Given the description of an element on the screen output the (x, y) to click on. 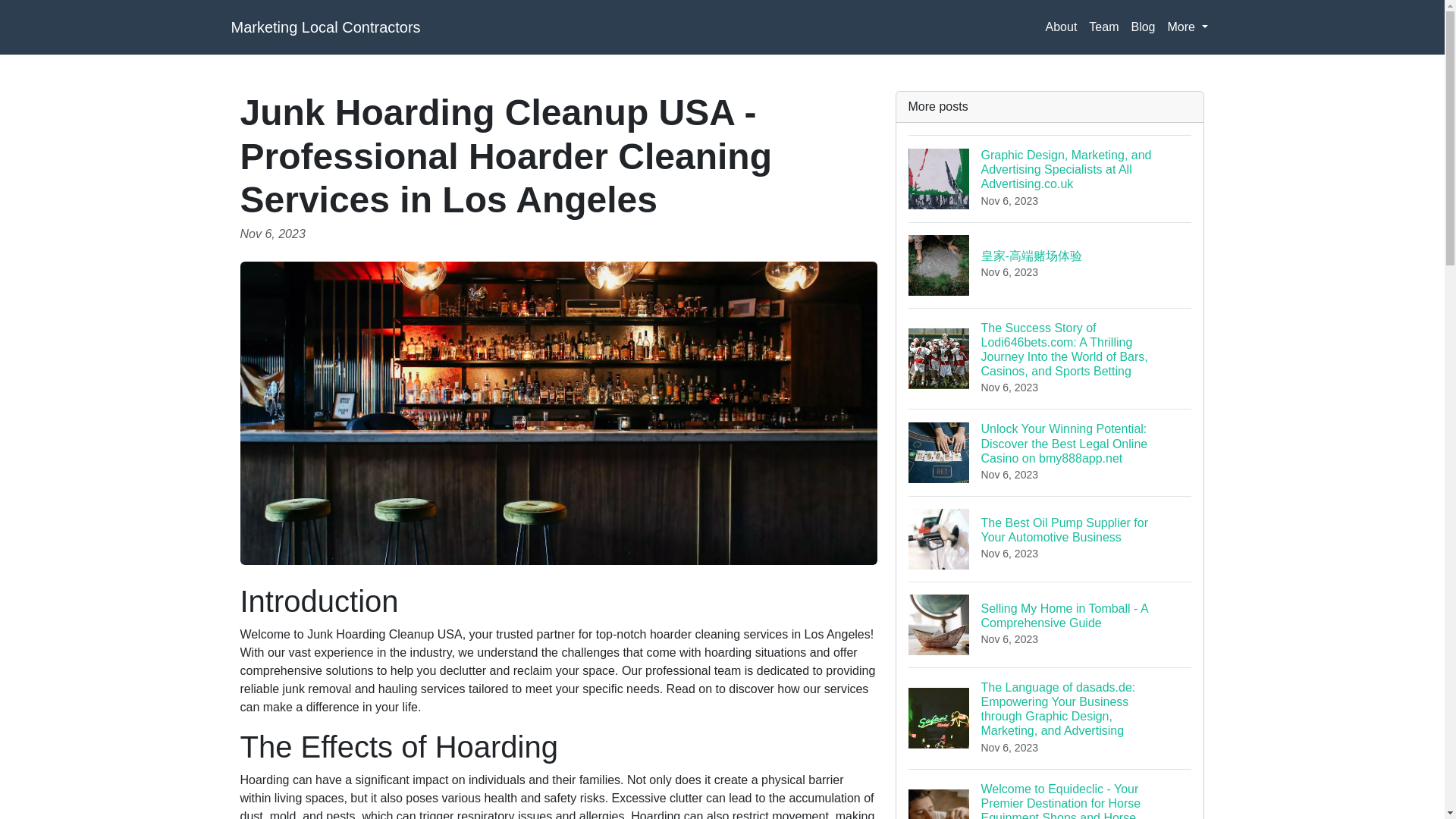
Blog (1142, 27)
Team (1103, 27)
Marketing Local Contractors (325, 27)
More (1187, 27)
